Given the description of an element on the screen output the (x, y) to click on. 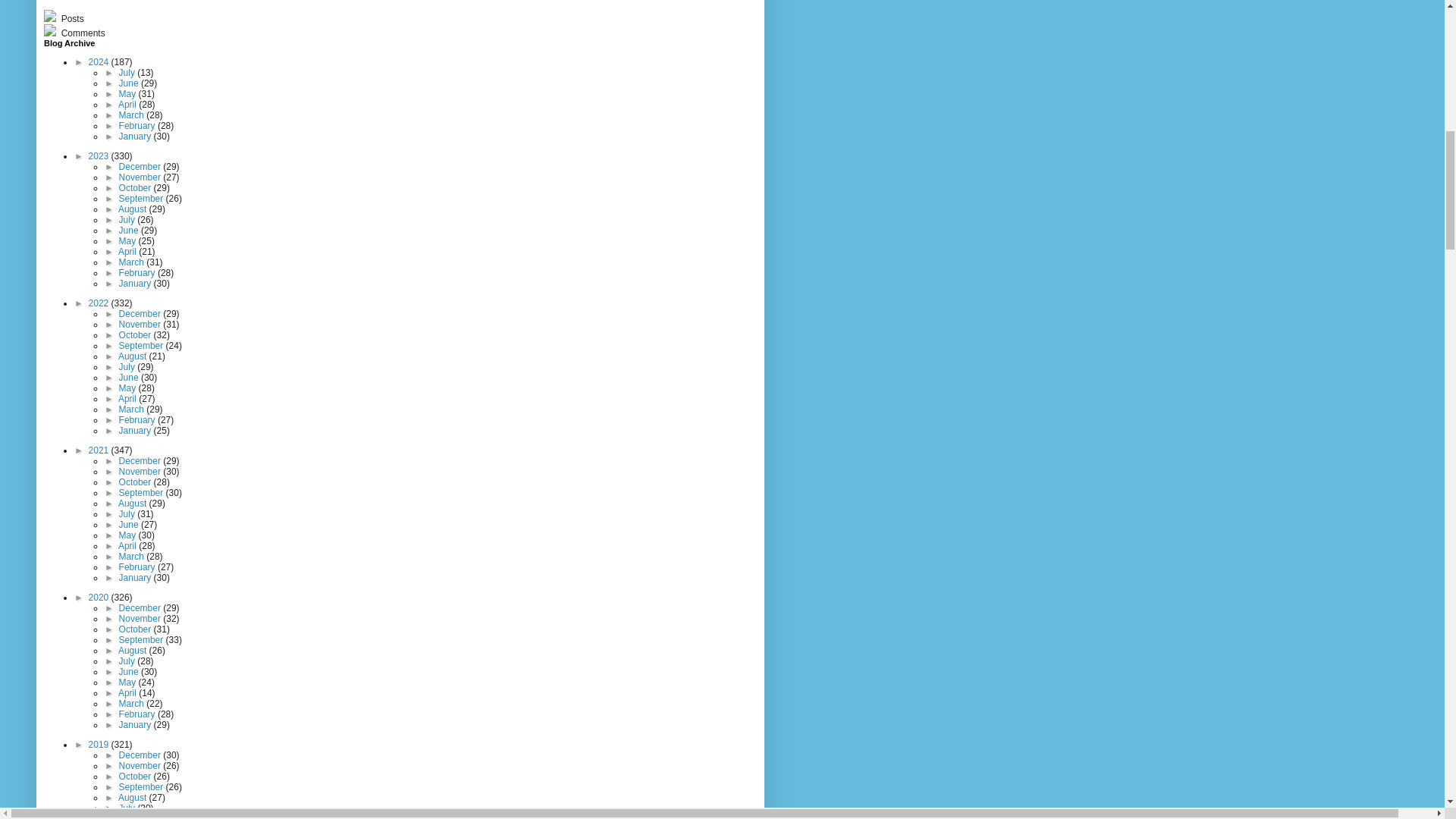
February (138, 125)
March (133, 114)
2024 (100, 61)
April (127, 104)
July (128, 72)
May (128, 93)
June (130, 82)
